Given the description of an element on the screen output the (x, y) to click on. 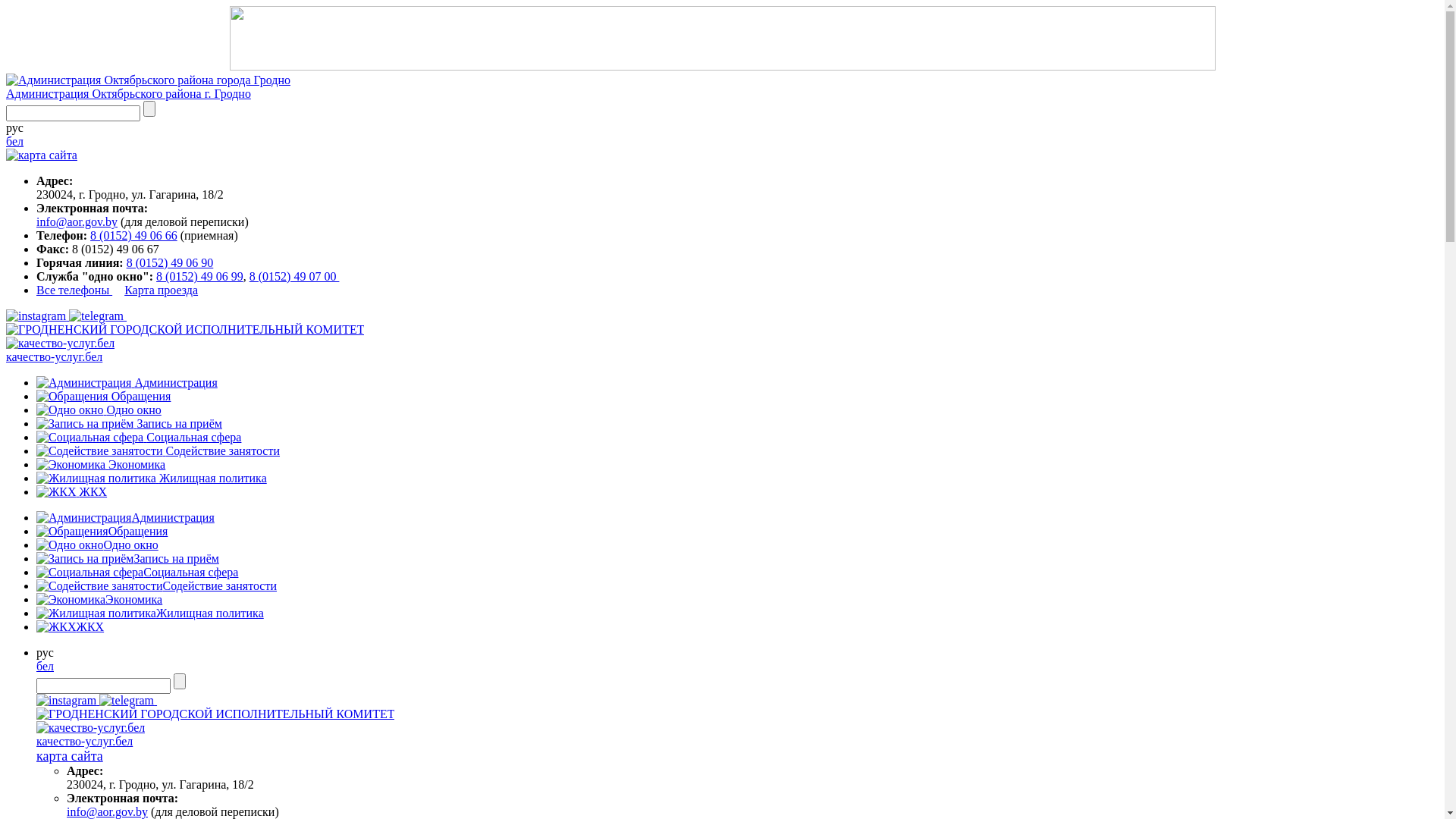
instagram Element type: hover (66, 700)
telegram Element type: hover (127, 699)
telegram Element type: hover (126, 700)
8 (0152) 49 06 90 Element type: text (169, 262)
instagram Element type: hover (35, 316)
instagram Element type: hover (67, 699)
telegram Element type: hover (96, 316)
info@aor.gov.by Element type: text (106, 811)
telegram Element type: hover (97, 315)
info@aor.gov.by Element type: text (76, 221)
8 (0152) 49 06 99 Element type: text (199, 275)
8 (0152) 49 07 00  Element type: text (294, 275)
instagram Element type: hover (37, 315)
8 (0152) 49 06 66 Element type: text (133, 235)
